Given the description of an element on the screen output the (x, y) to click on. 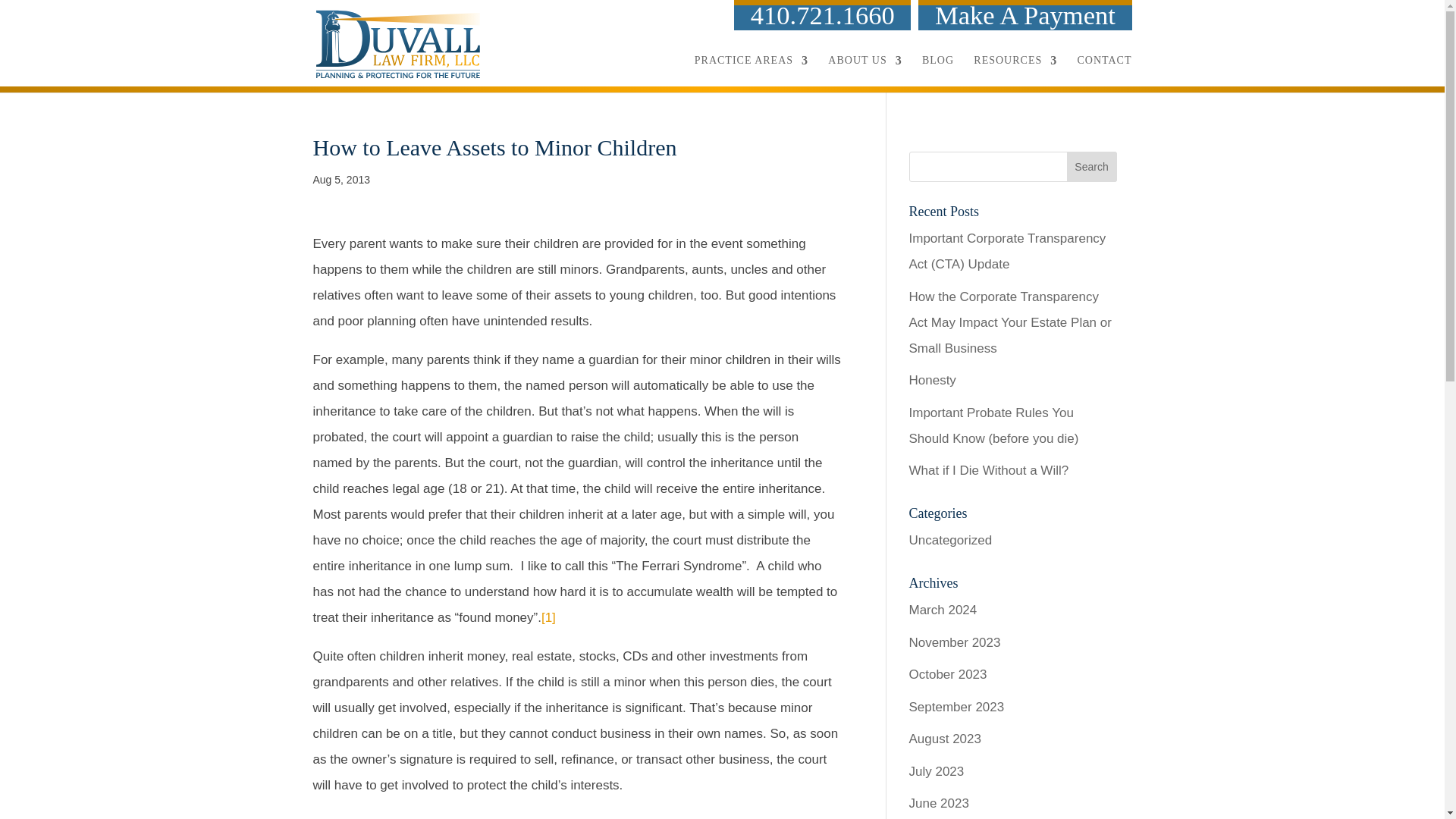
CONTACT (1104, 64)
RESOURCES (1015, 64)
October 2023 (947, 674)
November 2023 (954, 642)
Search (1091, 166)
Uncategorized (949, 540)
March 2024 (942, 609)
Honesty (931, 380)
September 2023 (956, 706)
